Given the description of an element on the screen output the (x, y) to click on. 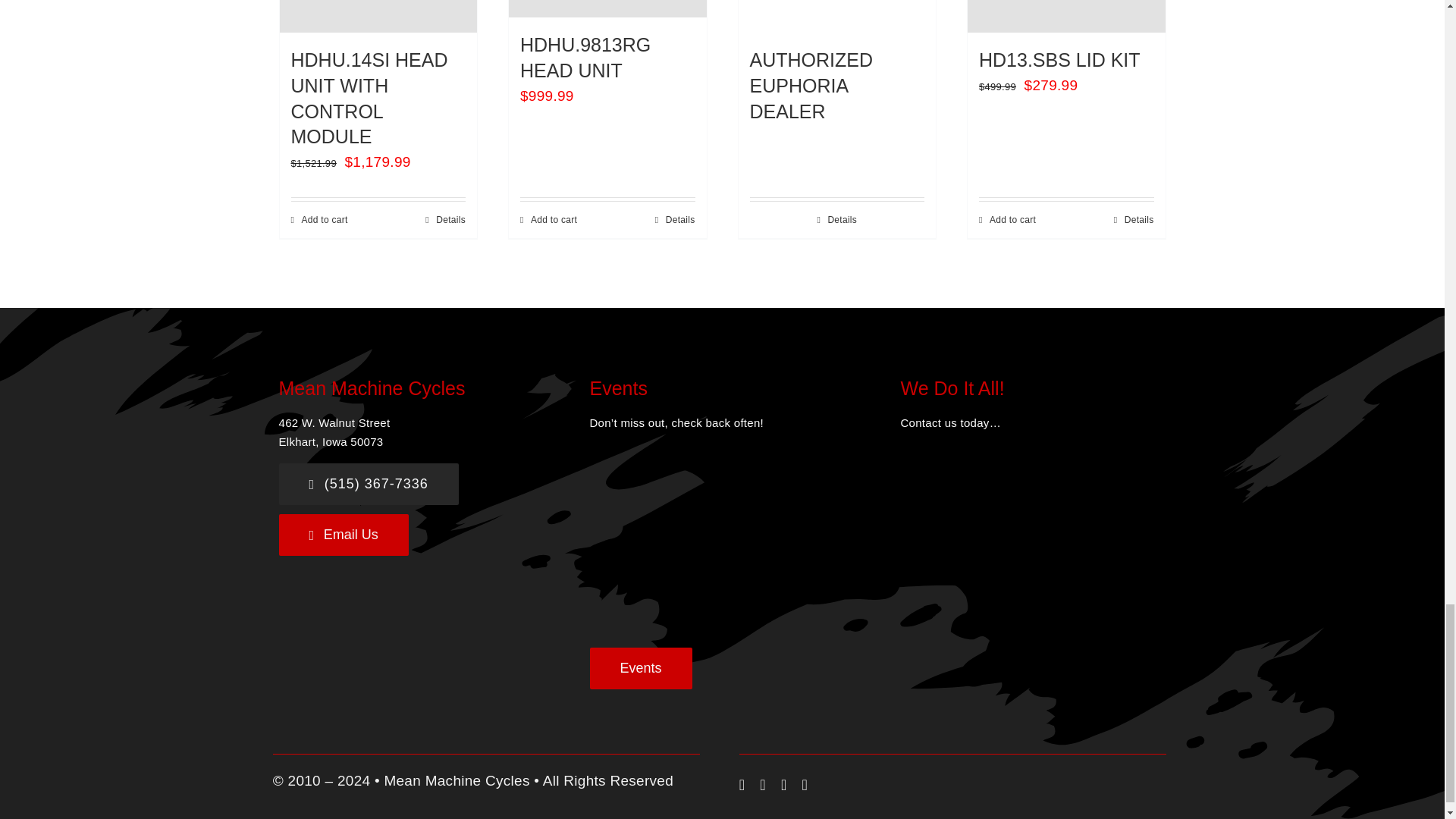
AUTHORIZED EUPHORIA DEALER (810, 85)
Details (445, 219)
MMC Footer Logo (1011, 556)
Details (836, 219)
Add to cart (319, 219)
HD13.SBS LID KIT (1059, 59)
HDHU.14SI HEAD UNIT WITH CONTROL MODULE (369, 98)
Sale! (1067, 16)
Add to cart (1006, 219)
Add to cart (547, 219)
